Given the description of an element on the screen output the (x, y) to click on. 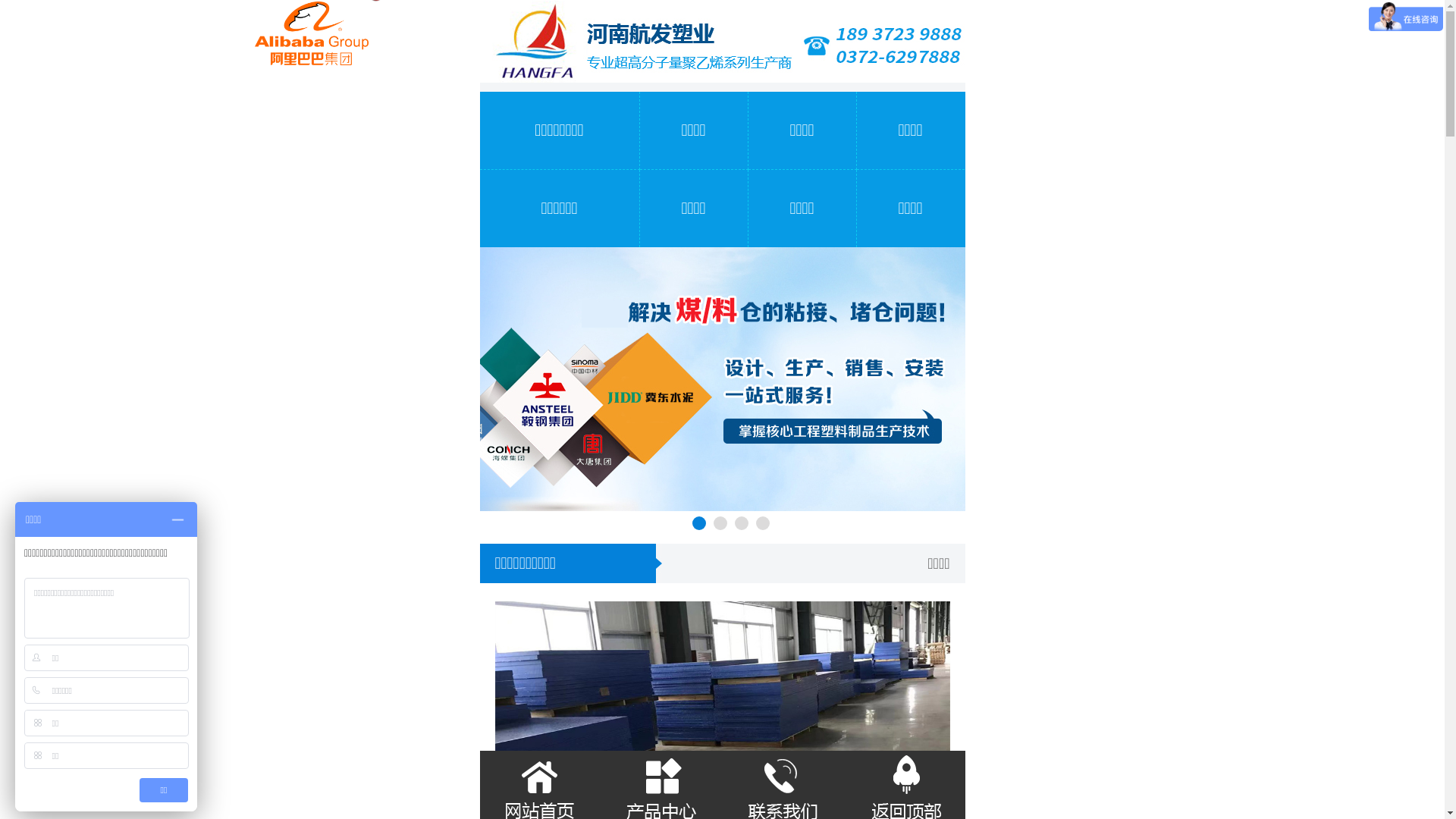
3 Element type: text (740, 523)
2 Element type: text (719, 523)
1 Element type: text (698, 523)
4 Element type: text (761, 523)
